Given the description of an element on the screen output the (x, y) to click on. 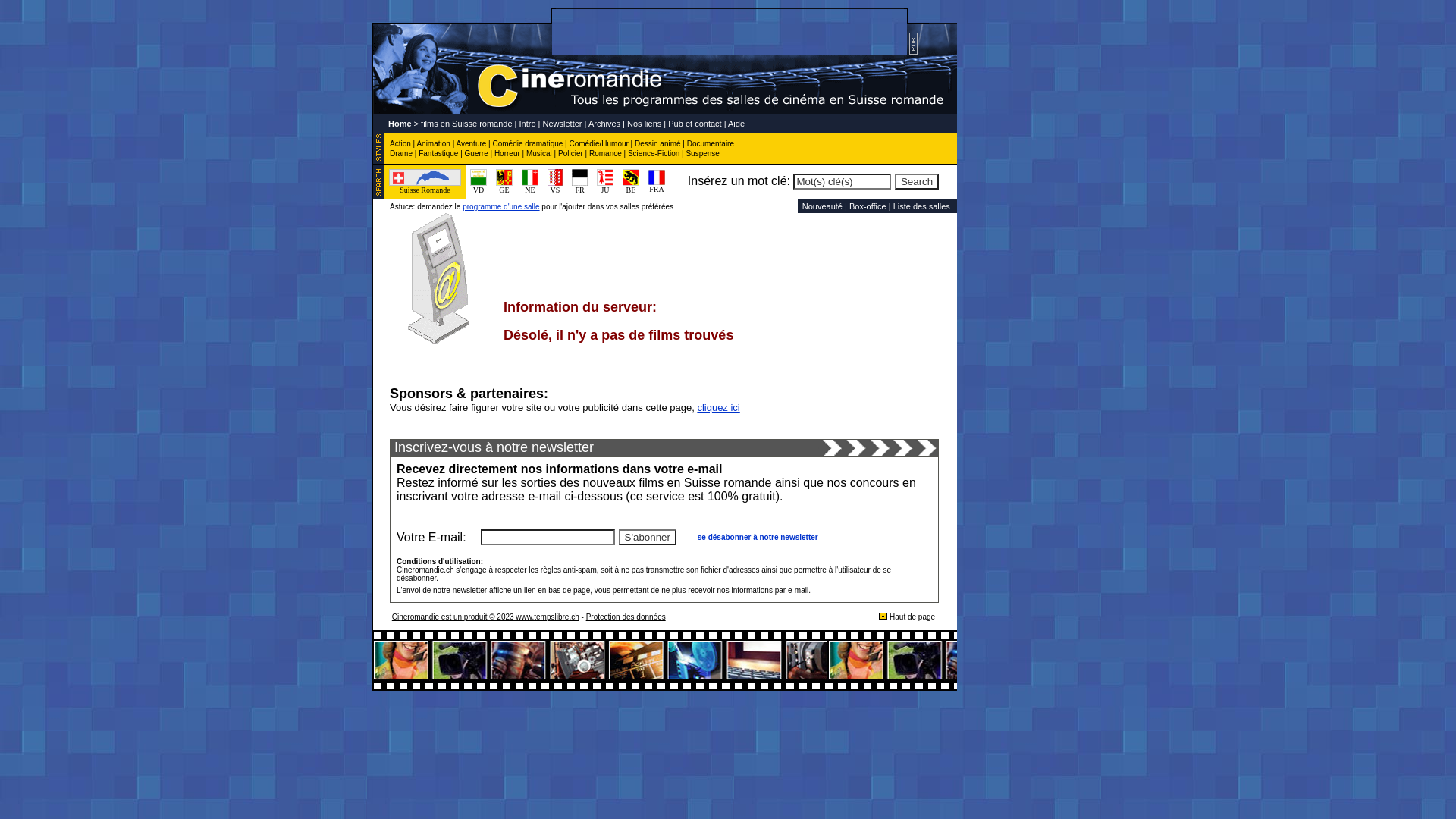
FR Element type: text (579, 186)
Newsletter Element type: text (562, 122)
Drame Element type: text (400, 153)
Archives Element type: text (604, 122)
Suisse Romande Element type: text (425, 186)
GE Element type: text (503, 186)
FRA Element type: text (656, 185)
Horreur Element type: text (507, 153)
Musical Element type: text (539, 153)
cliquez ici Element type: text (717, 407)
Action Element type: text (400, 143)
S'abonner Element type: text (647, 537)
Haut de page Element type: text (912, 616)
NE Element type: text (529, 186)
Nos liens Element type: text (644, 122)
VD Element type: text (478, 186)
Science-Fiction Element type: text (653, 153)
VS Element type: text (554, 186)
Suspense Element type: text (701, 153)
Search Element type: text (916, 181)
Guerre Element type: text (476, 153)
Box-office Element type: text (867, 205)
Pub et contact Element type: text (694, 122)
JU Element type: text (604, 186)
Romance Element type: text (605, 153)
Animation Element type: text (432, 143)
Home > films en Suisse romande Element type: text (450, 122)
Fantastique Element type: text (438, 153)
Aventure Element type: text (470, 143)
programme d'une salle Element type: text (500, 206)
Aide Element type: text (736, 122)
BE Element type: text (630, 186)
Documentaire Element type: text (710, 143)
Liste des salles Element type: text (921, 205)
Policier Element type: text (570, 153)
Intro Element type: text (527, 122)
